Given the description of an element on the screen output the (x, y) to click on. 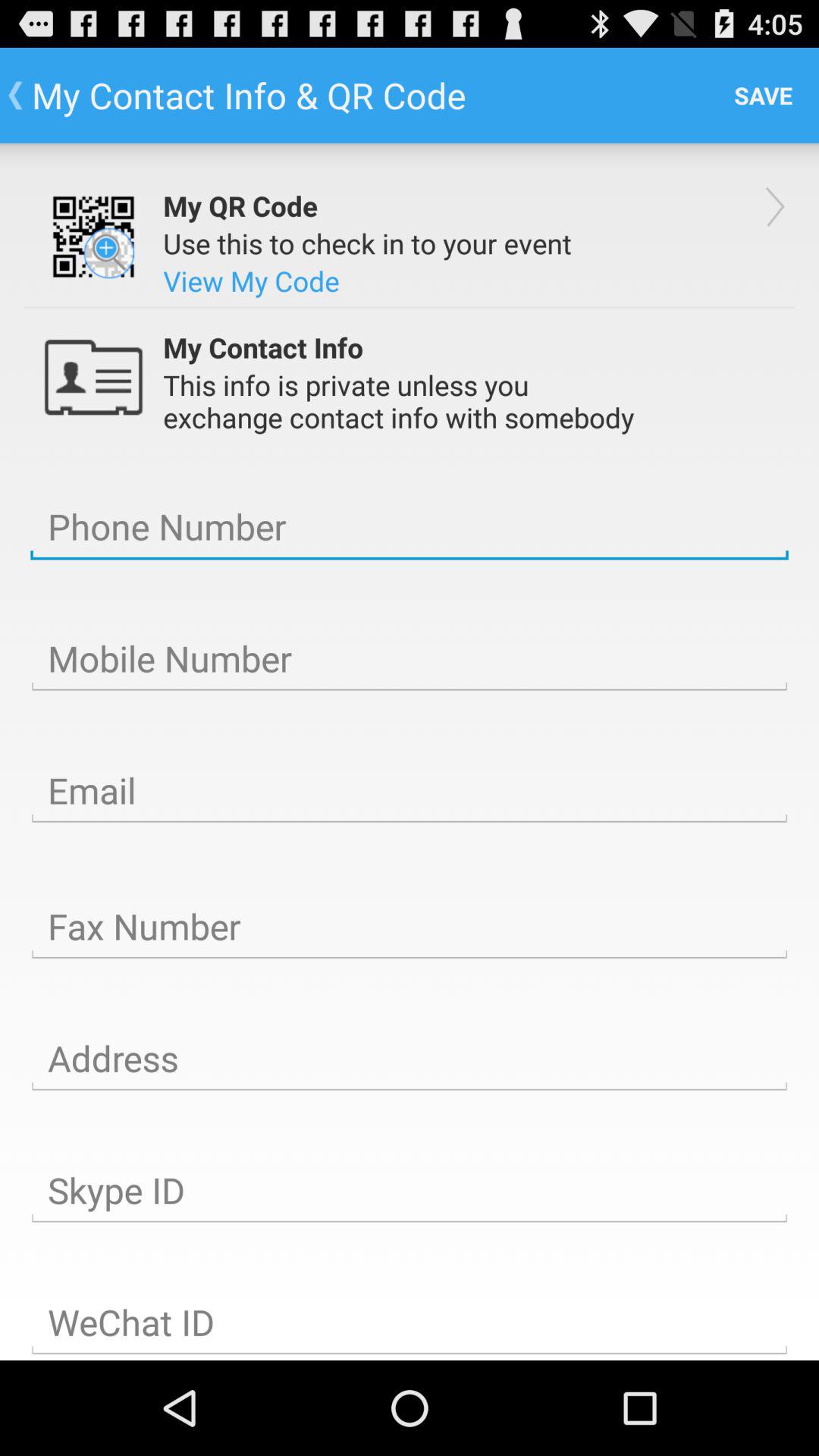
open the save item (763, 95)
